Given the description of an element on the screen output the (x, y) to click on. 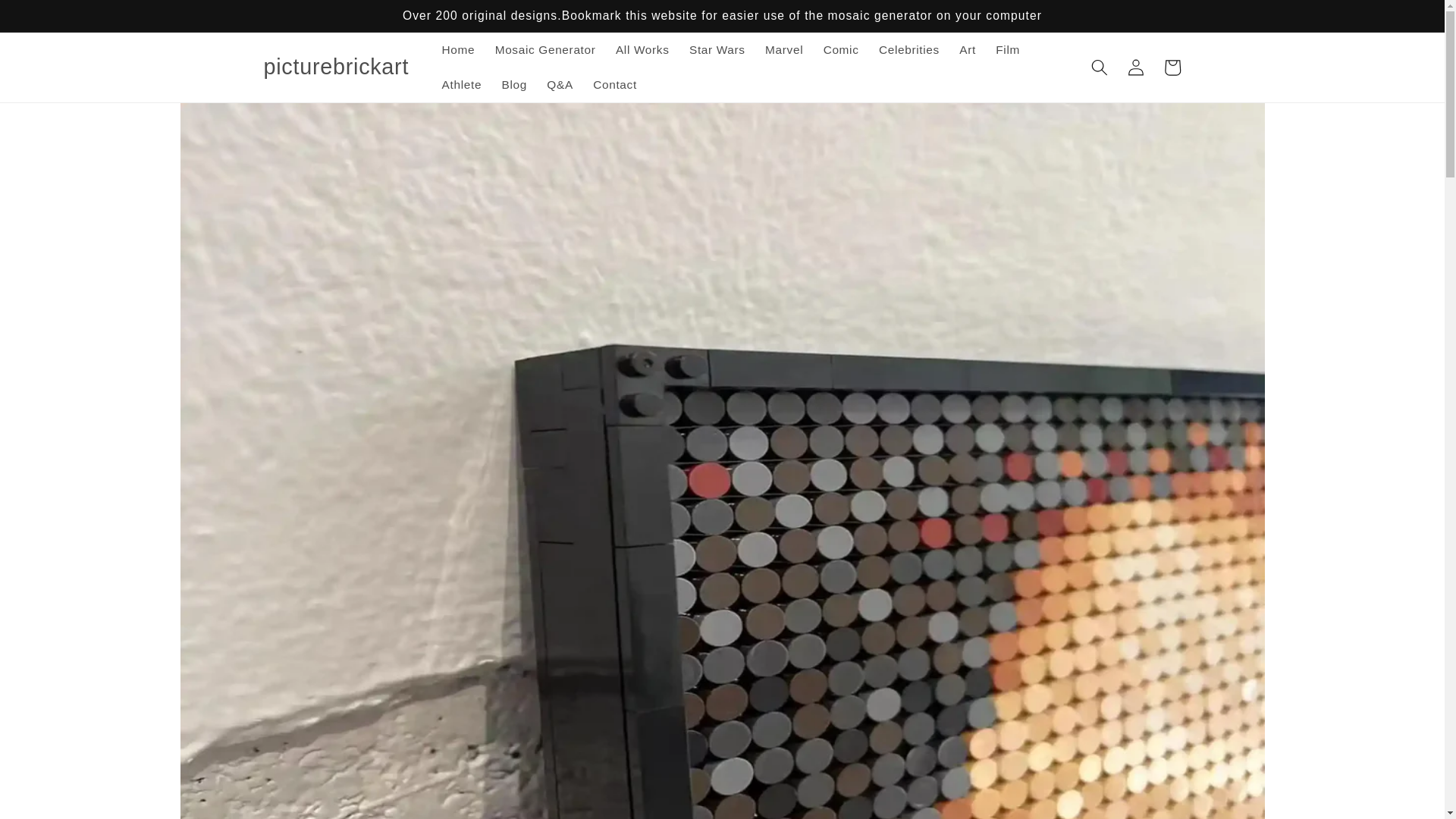
Blog (514, 84)
Art (967, 49)
All Works (642, 49)
Athlete (461, 84)
picturebrickart (335, 66)
Comic (839, 49)
Home (457, 49)
Celebrities (909, 49)
Marvel (784, 49)
Film (1007, 49)
